Given the description of an element on the screen output the (x, y) to click on. 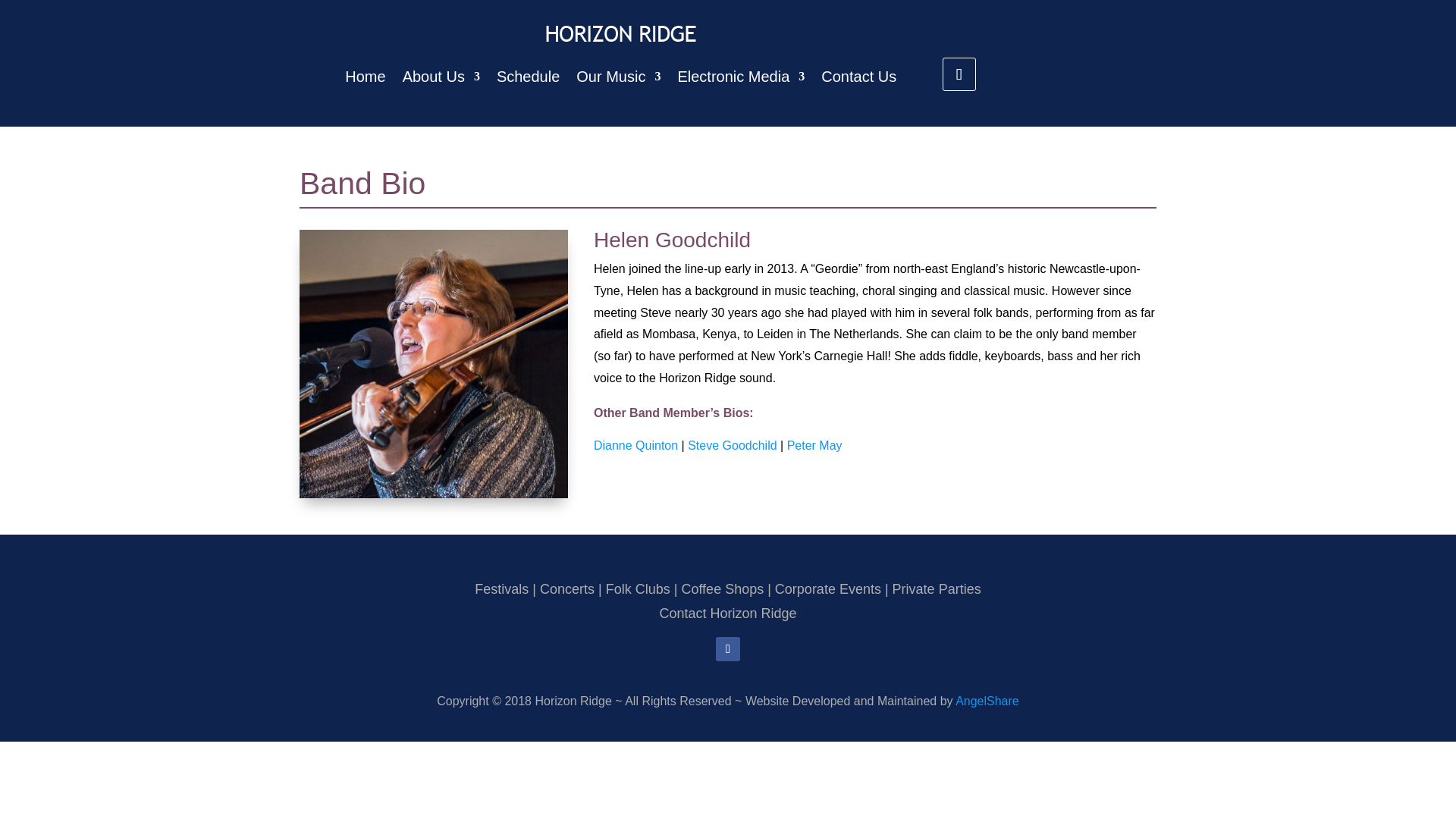
Schedule (527, 76)
Dianne Quinton (636, 445)
Follow on Facebook (958, 73)
Our Music (618, 76)
Follow on Facebook (727, 648)
Contact Us (858, 76)
About Us (441, 76)
AngelShare (987, 700)
Peter May (815, 445)
Electronic Media (741, 76)
